Given the description of an element on the screen output the (x, y) to click on. 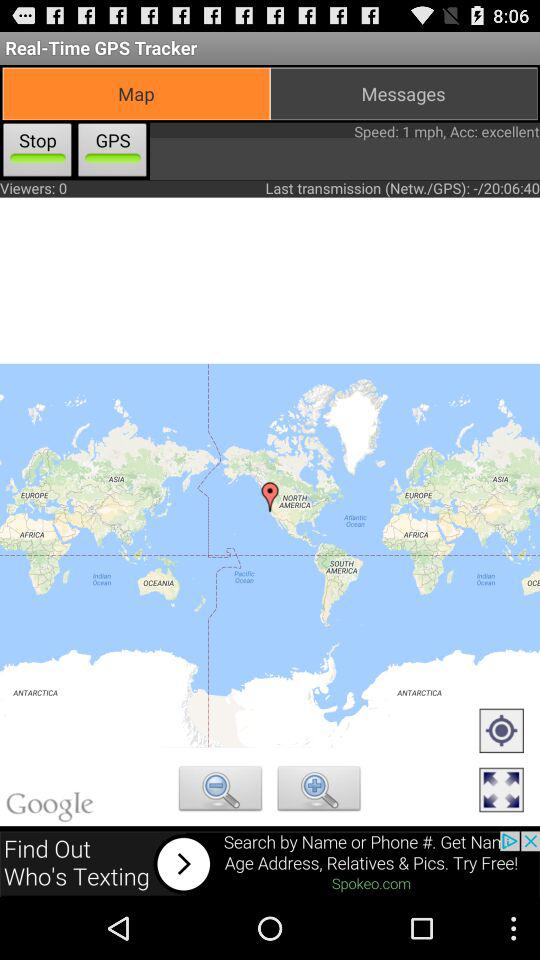
set marker (501, 731)
